Given the description of an element on the screen output the (x, y) to click on. 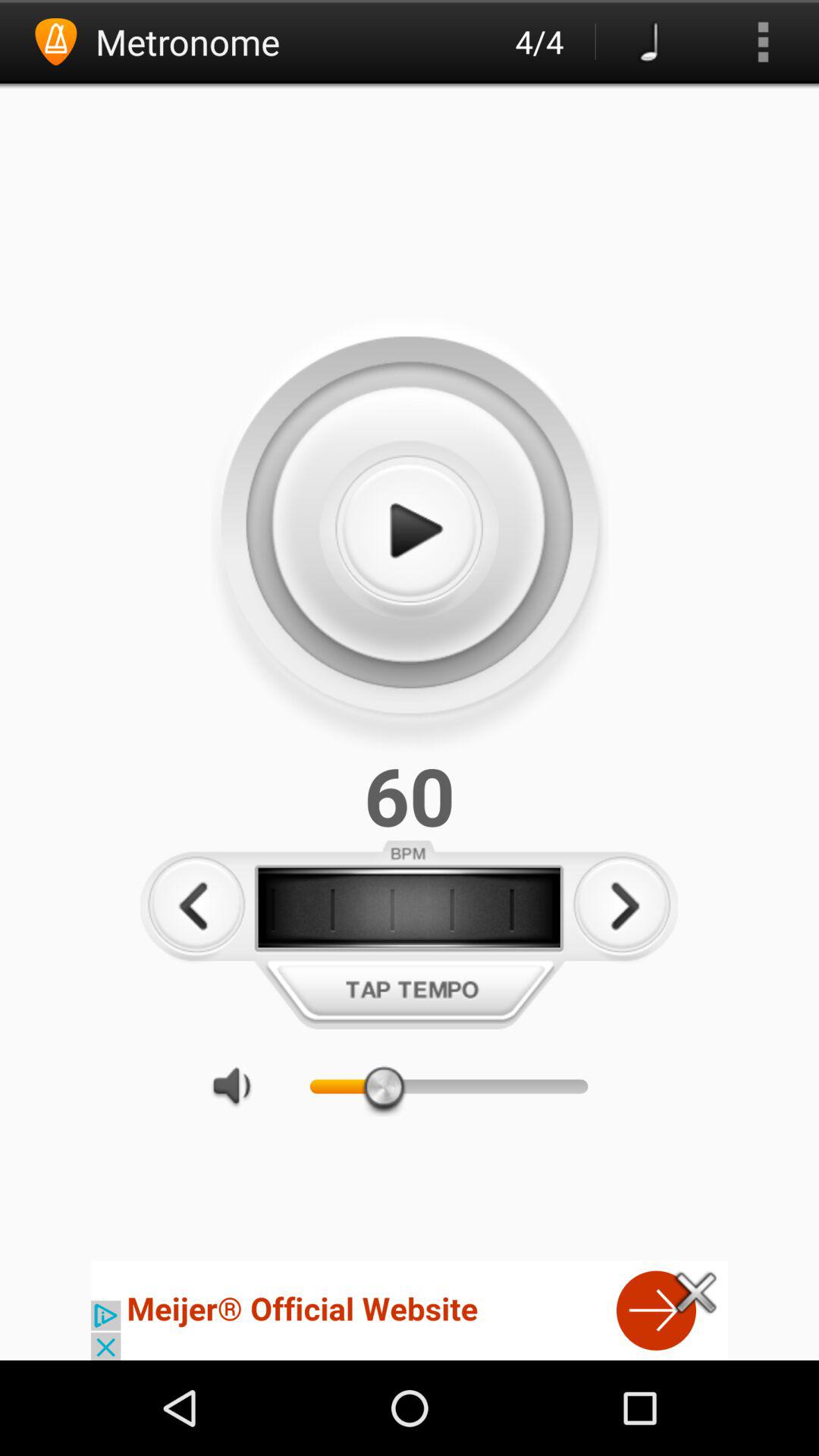
increase tempo (621, 906)
